Given the description of an element on the screen output the (x, y) to click on. 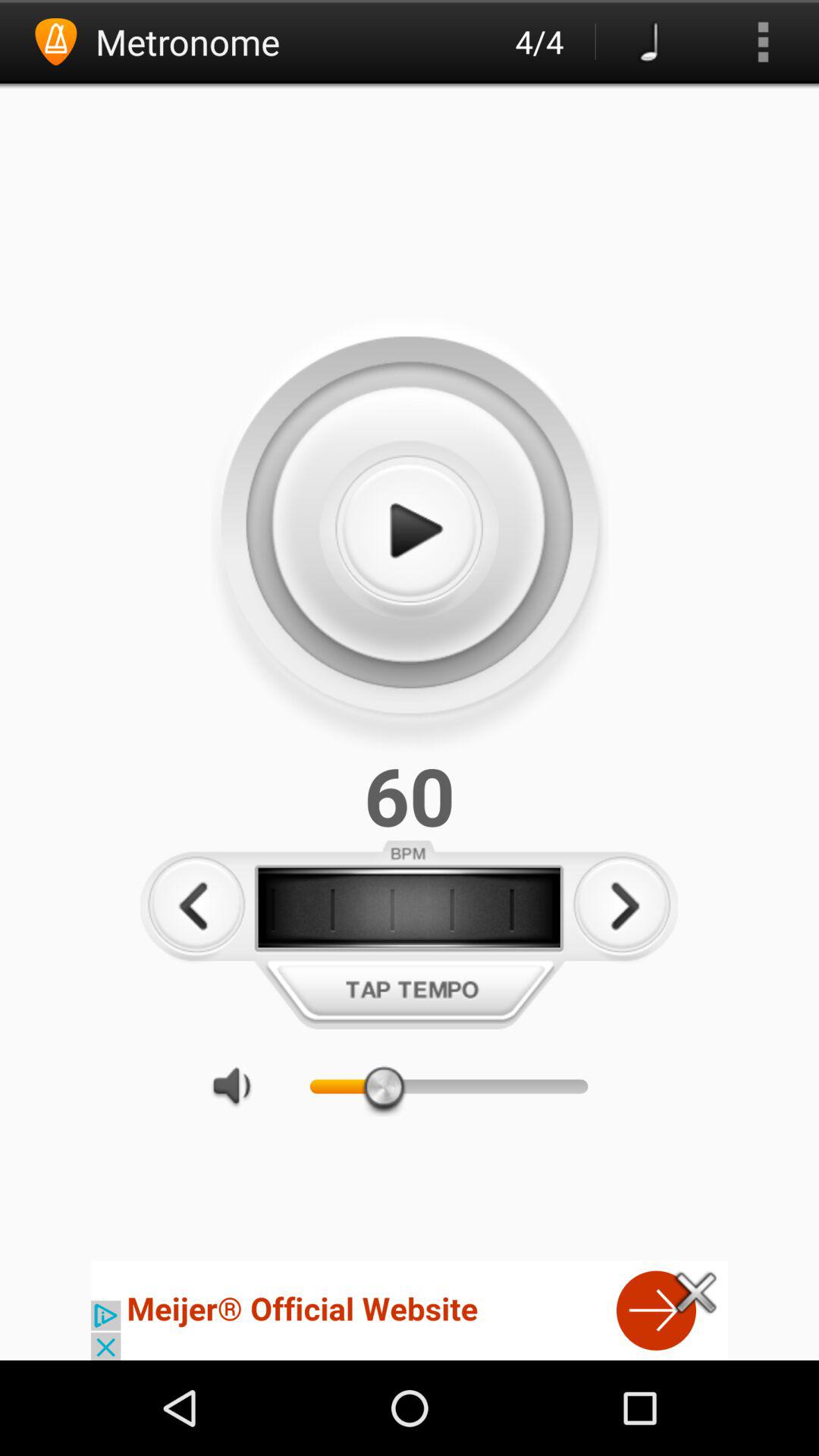
increase tempo (621, 906)
